Given the description of an element on the screen output the (x, y) to click on. 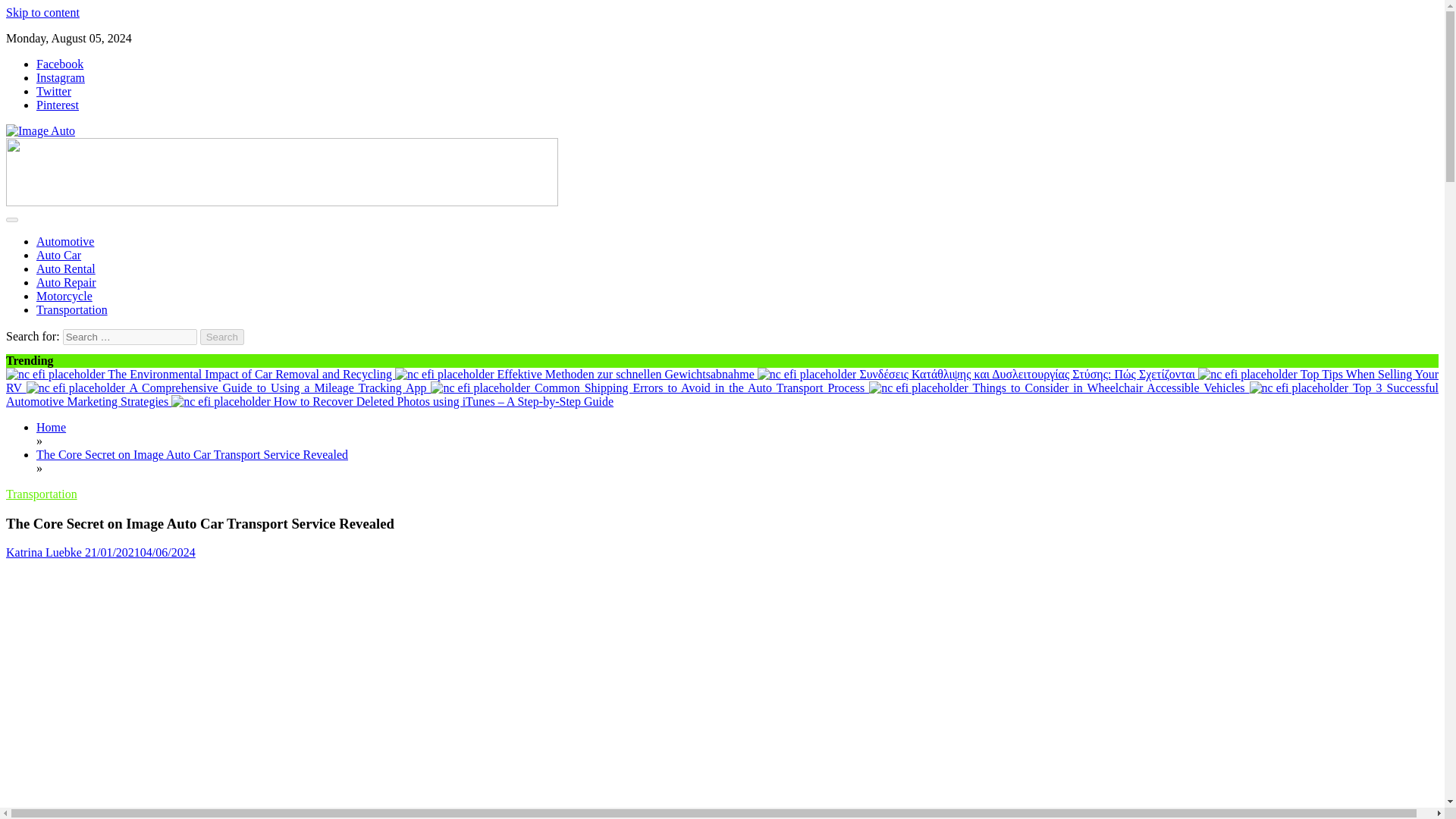
Things to Consider in Wheelchair Accessible Vehicles (918, 387)
Pinterest (57, 104)
Twitter (53, 91)
Katrina Luebke (43, 552)
Auto Repair (66, 282)
A Comprehensive Guide to Using a Mileage Tracking App (75, 387)
Transportation (41, 493)
Top Tips When Selling Your RV (1247, 374)
Automotive (65, 241)
